Given the description of an element on the screen output the (x, y) to click on. 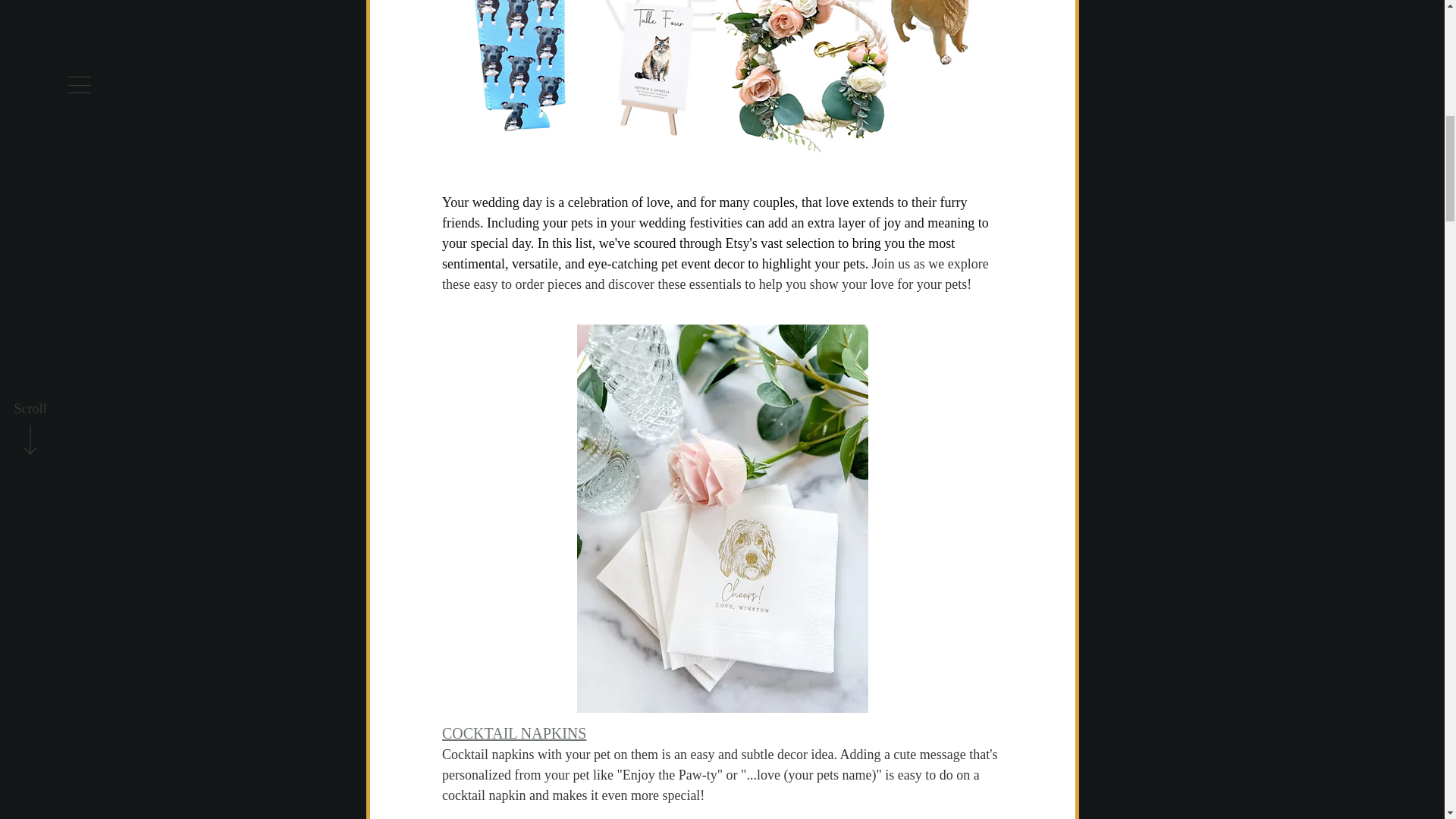
COCKTAIL NAPKINS (513, 733)
